Given the description of an element on the screen output the (x, y) to click on. 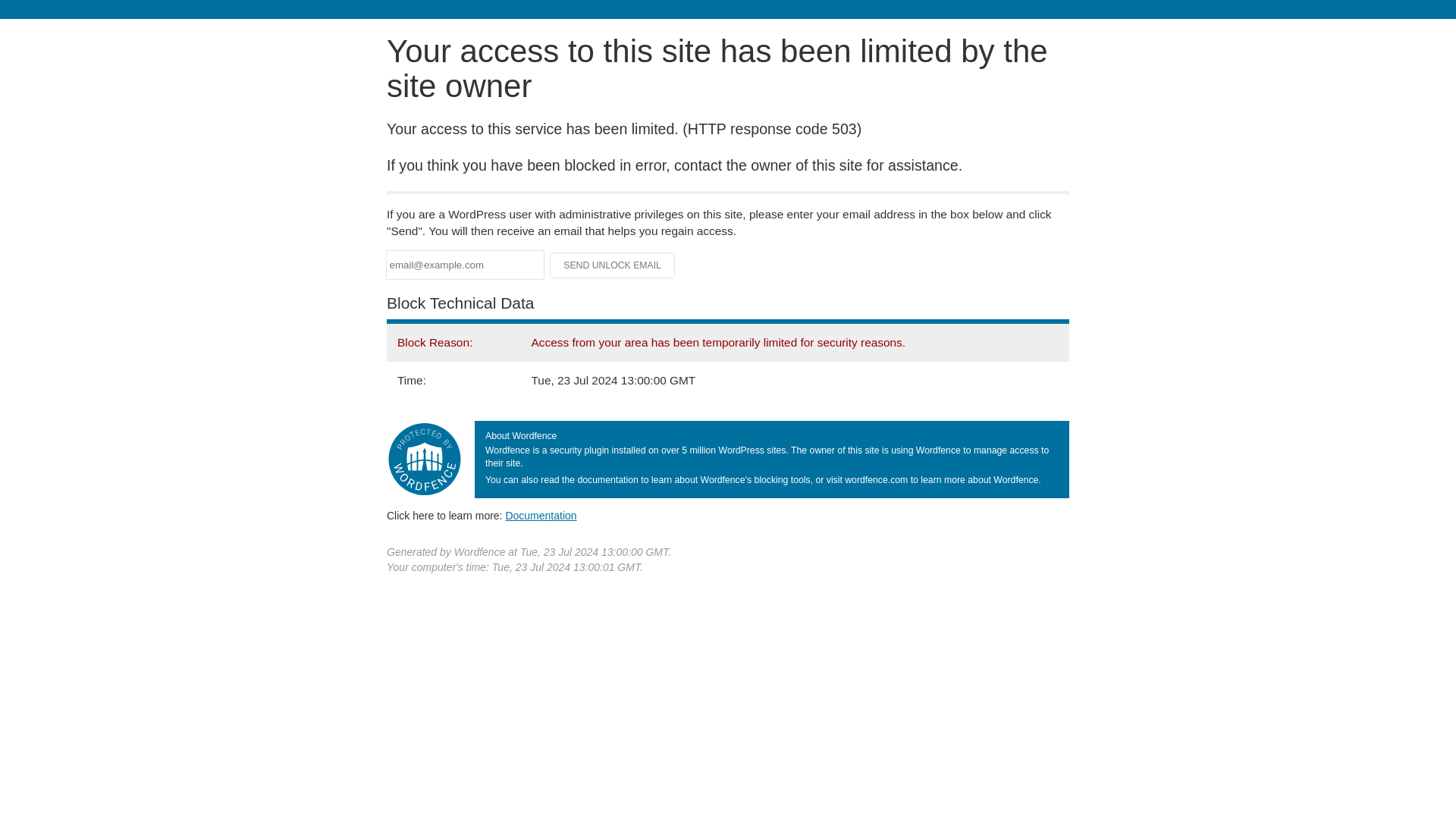
Documentation (540, 515)
Send Unlock Email (612, 265)
Send Unlock Email (612, 265)
